Given the description of an element on the screen output the (x, y) to click on. 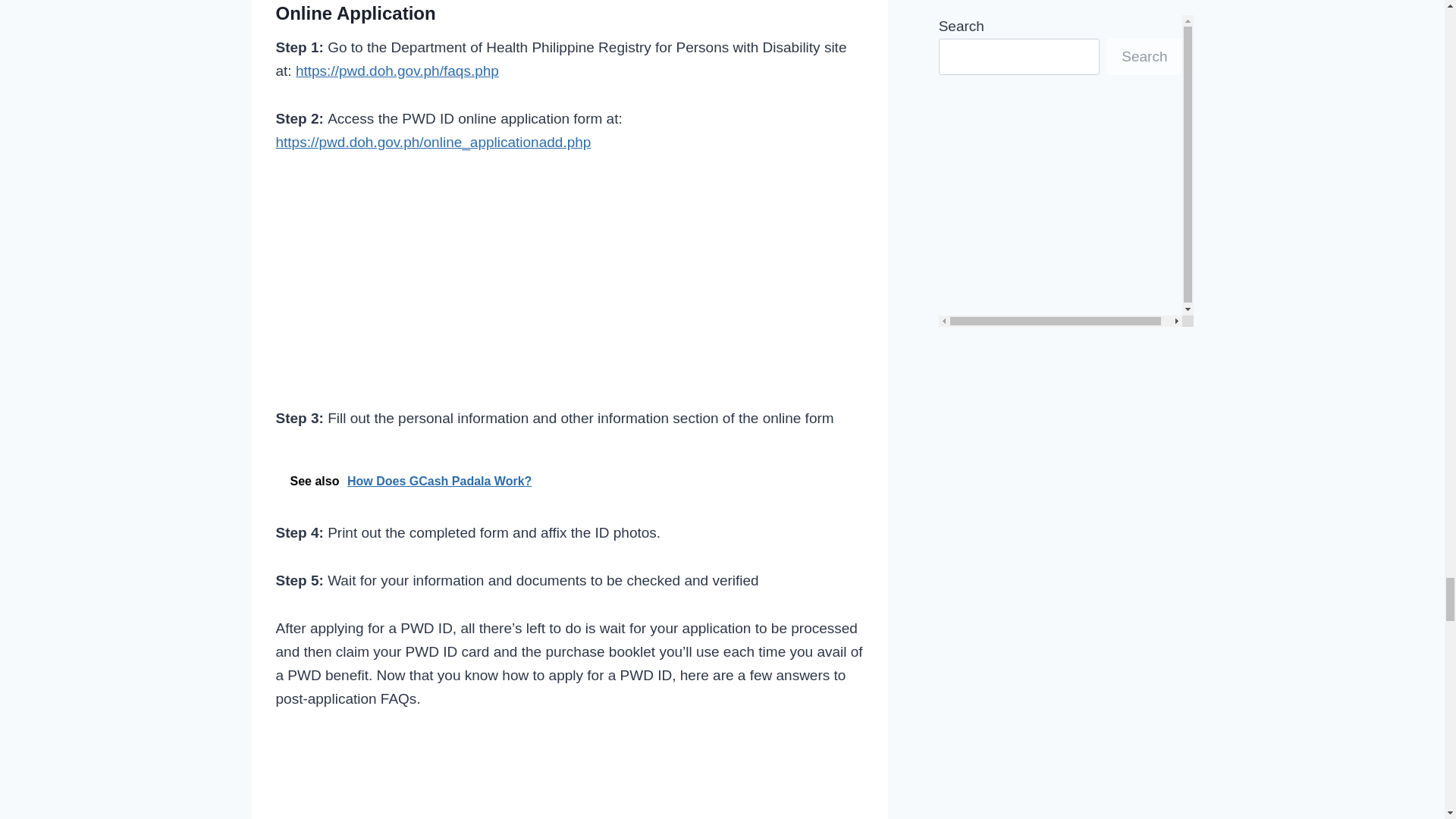
See also  How Does GCash Padala Work? (570, 480)
